Given the description of an element on the screen output the (x, y) to click on. 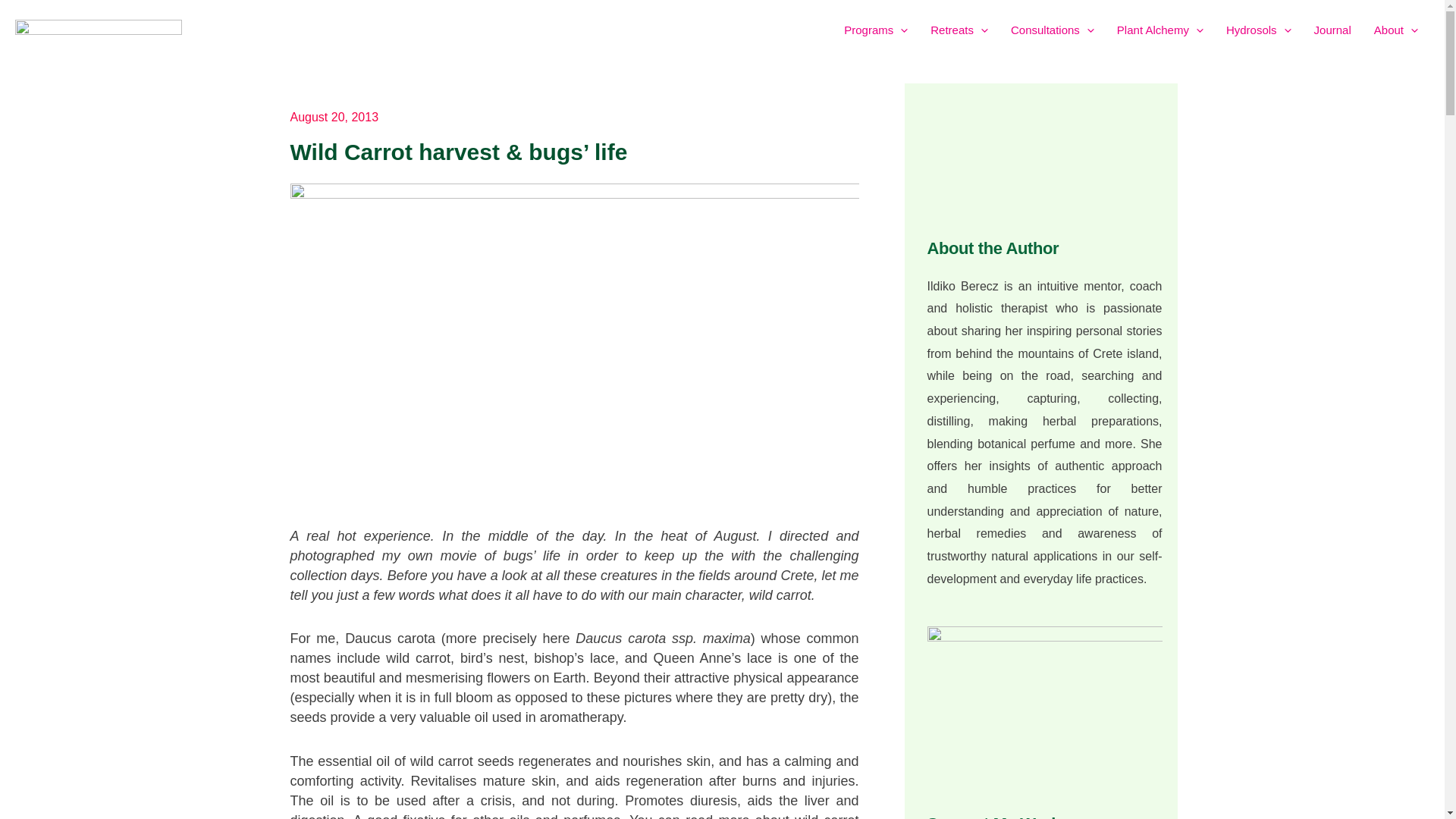
About (1395, 30)
Journal (1332, 30)
Consultations (1051, 30)
Hydrosols (1258, 30)
Plant Alchemy (1159, 30)
Retreats (958, 30)
Programs (875, 30)
